Given the description of an element on the screen output the (x, y) to click on. 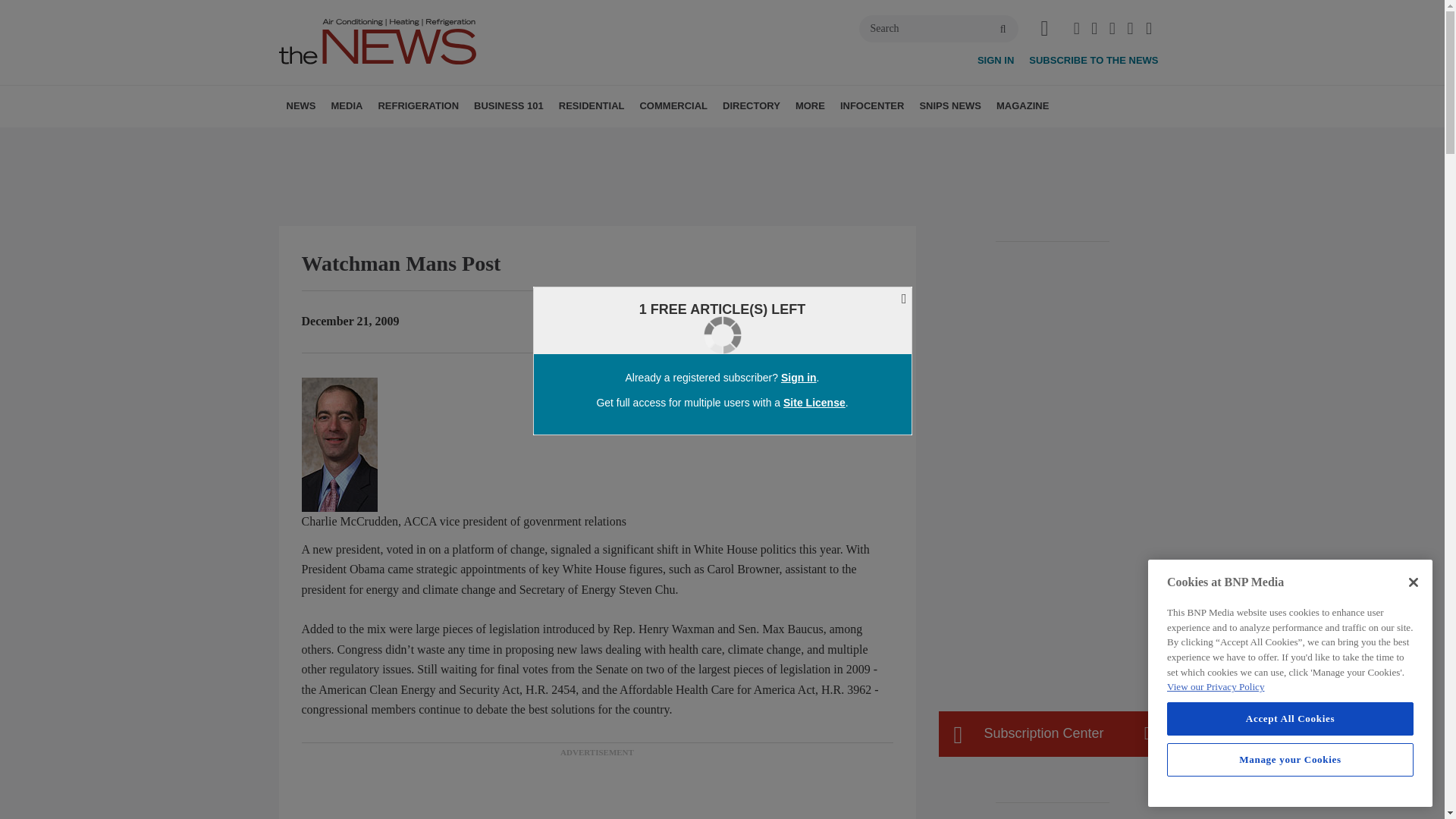
Search (938, 28)
Search (938, 28)
